Given the description of an element on the screen output the (x, y) to click on. 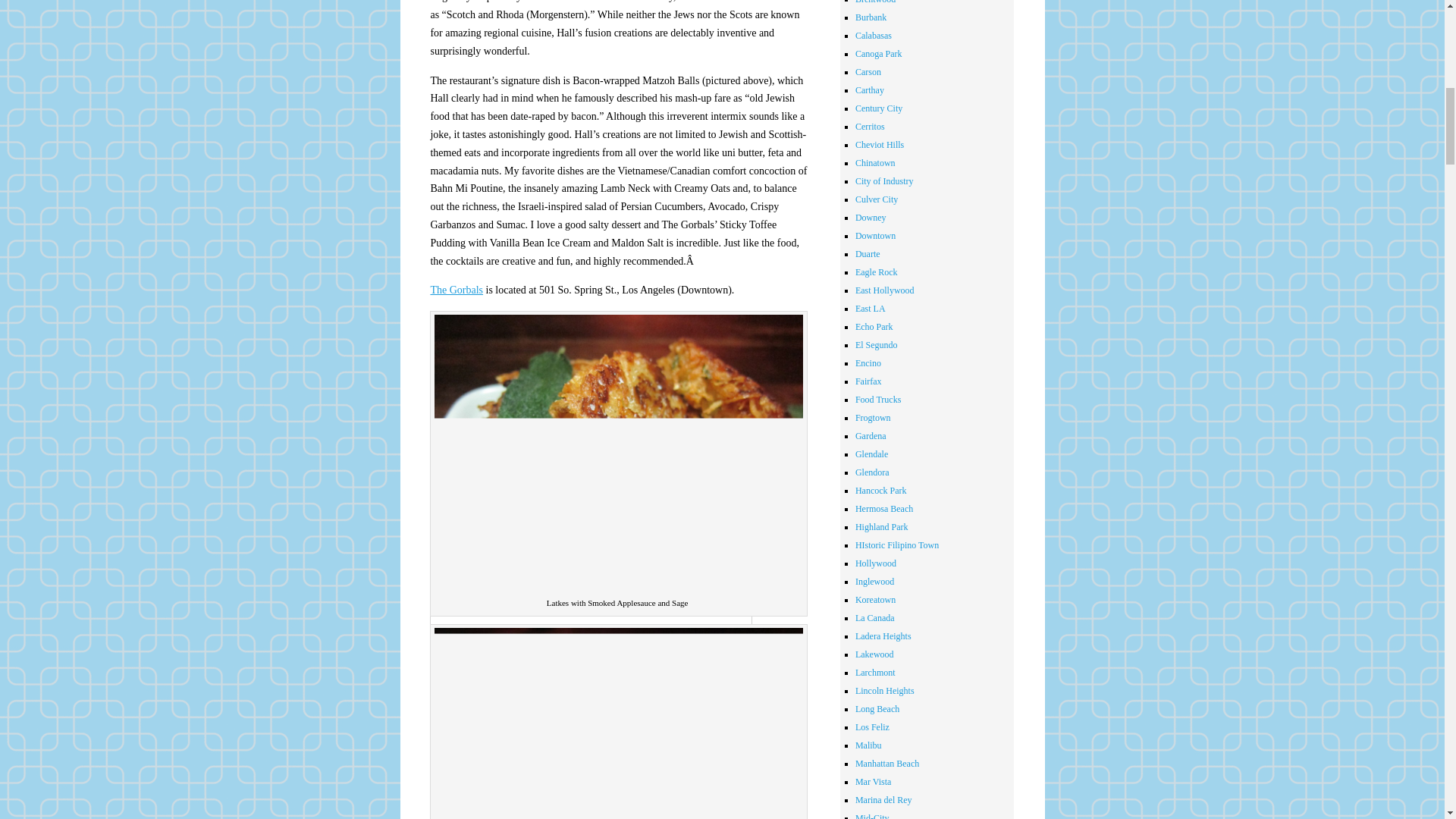
The Gorbals (456, 289)
